Given the description of an element on the screen output the (x, y) to click on. 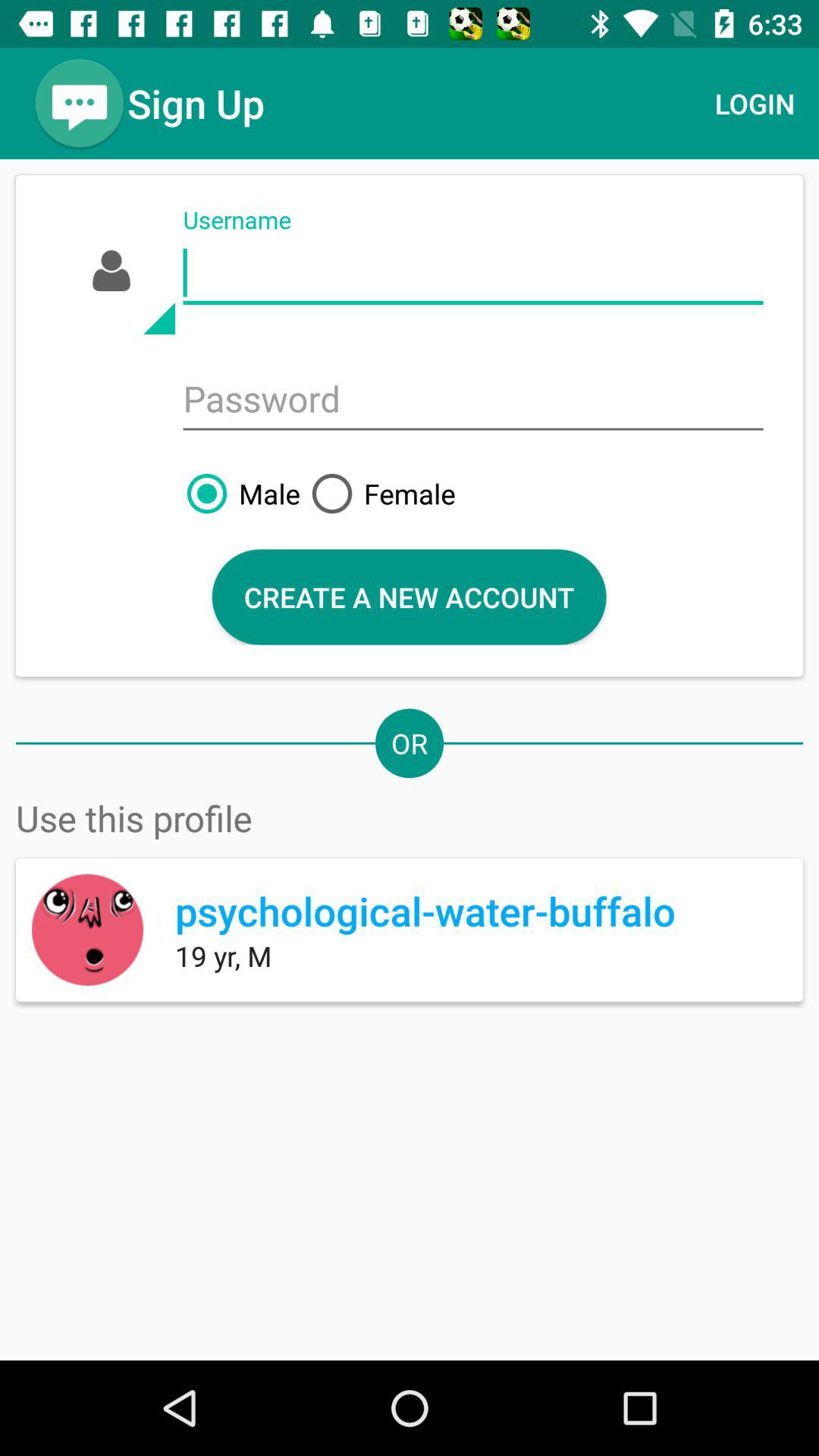
open username text field (473, 273)
